Given the description of an element on the screen output the (x, y) to click on. 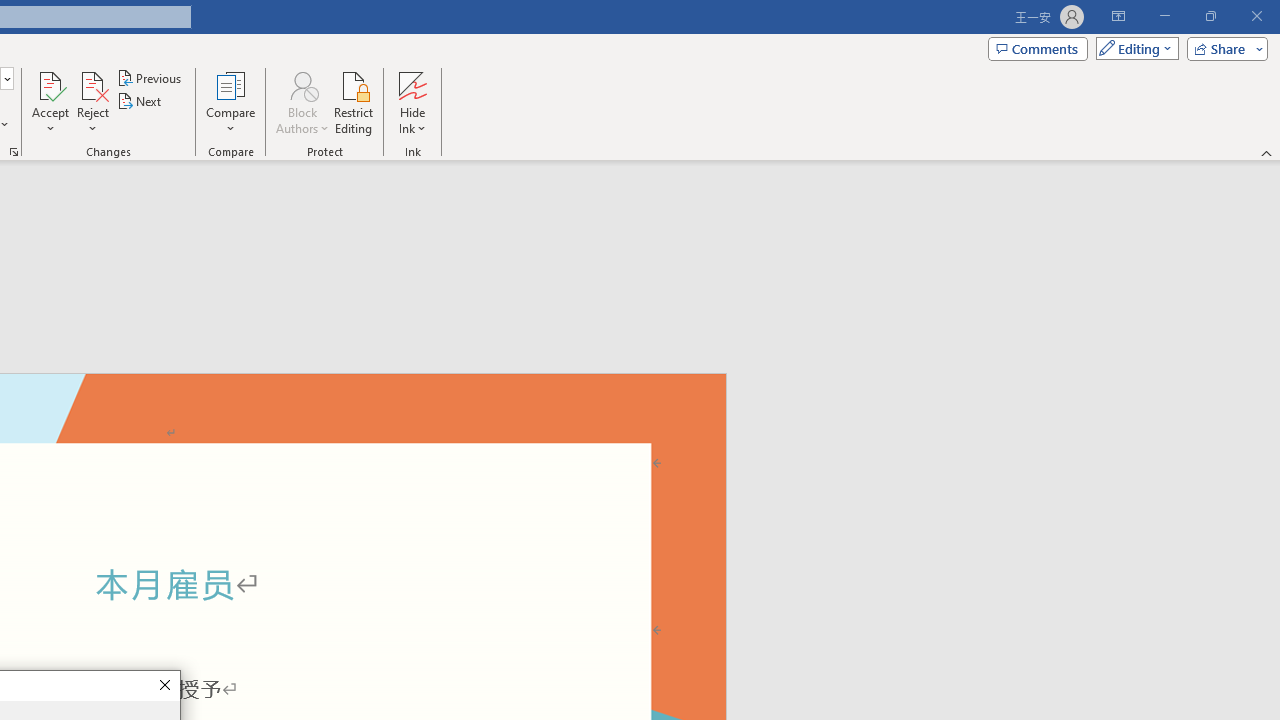
Reject (92, 102)
Compare (230, 102)
Block Authors (302, 102)
Reject and Move to Next (92, 84)
Previous (150, 78)
Open (6, 78)
Accept and Move to Next (50, 84)
Mode (1133, 47)
Restrict Editing (353, 102)
Next (140, 101)
Comments (1038, 48)
Ribbon Display Options (1118, 16)
